Given the description of an element on the screen output the (x, y) to click on. 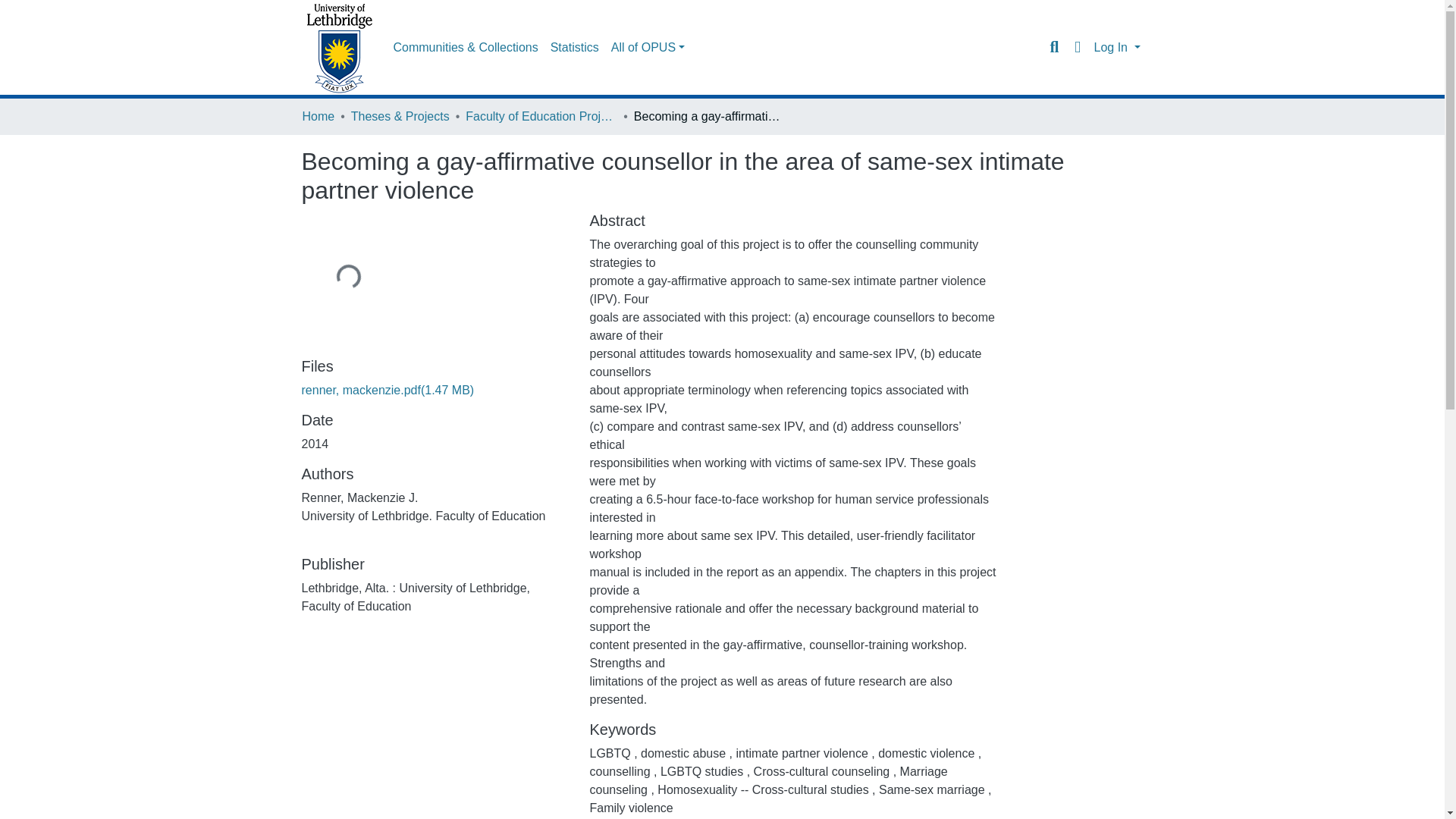
Search (1053, 47)
All of OPUS (647, 47)
Statistics (574, 47)
Statistics (574, 47)
Log In (1116, 47)
Home (317, 116)
Language switch (1077, 47)
